Given the description of an element on the screen output the (x, y) to click on. 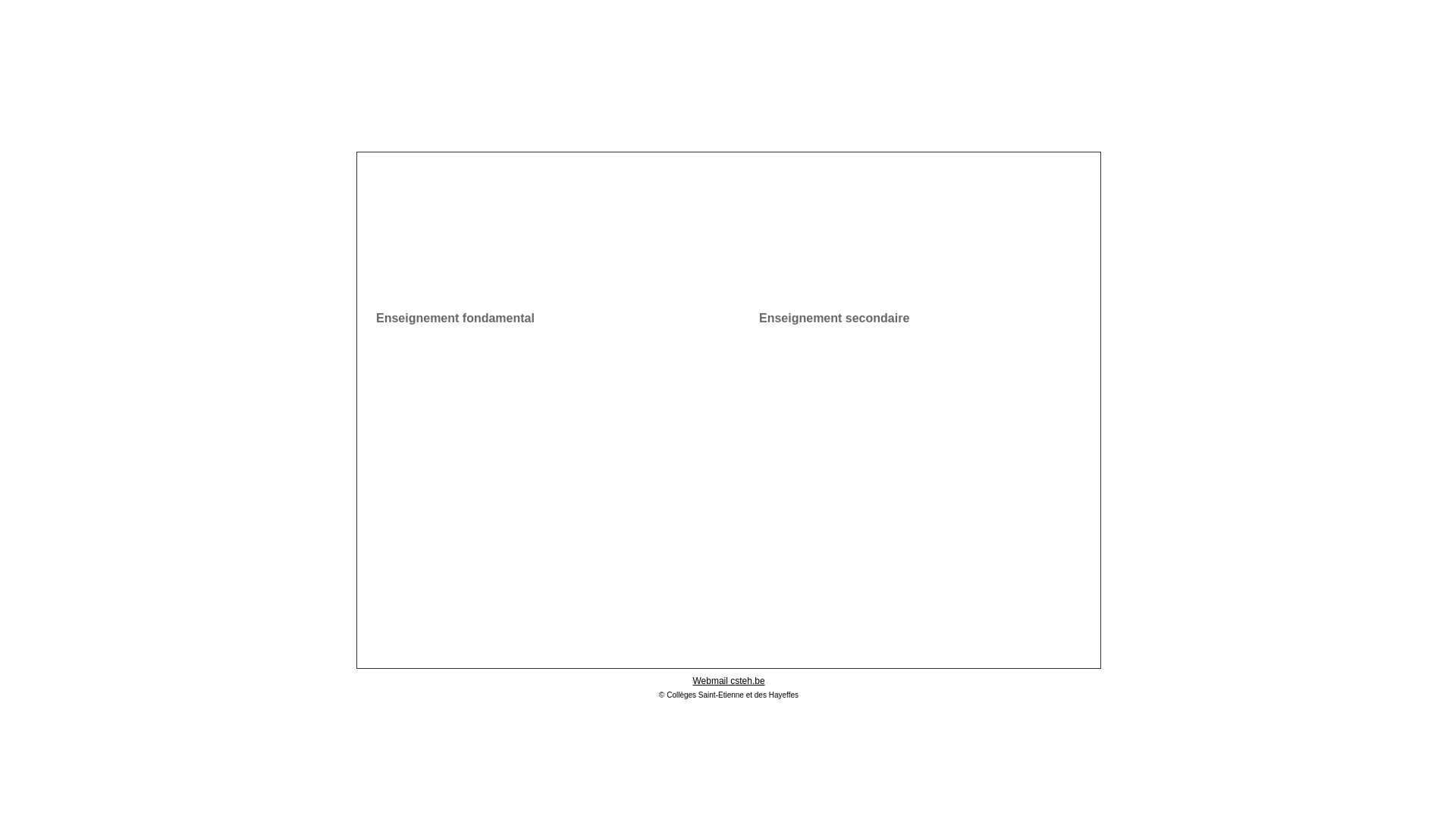
cecile.retif[at]csteh.be Element type: text (478, 625)
accueil.msg[at]csteh.be Element type: text (973, 625)
Webmail csteh.be Element type: text (728, 680)
accueil.cse[at]cste.be Element type: text (726, 625)
